Given the description of an element on the screen output the (x, y) to click on. 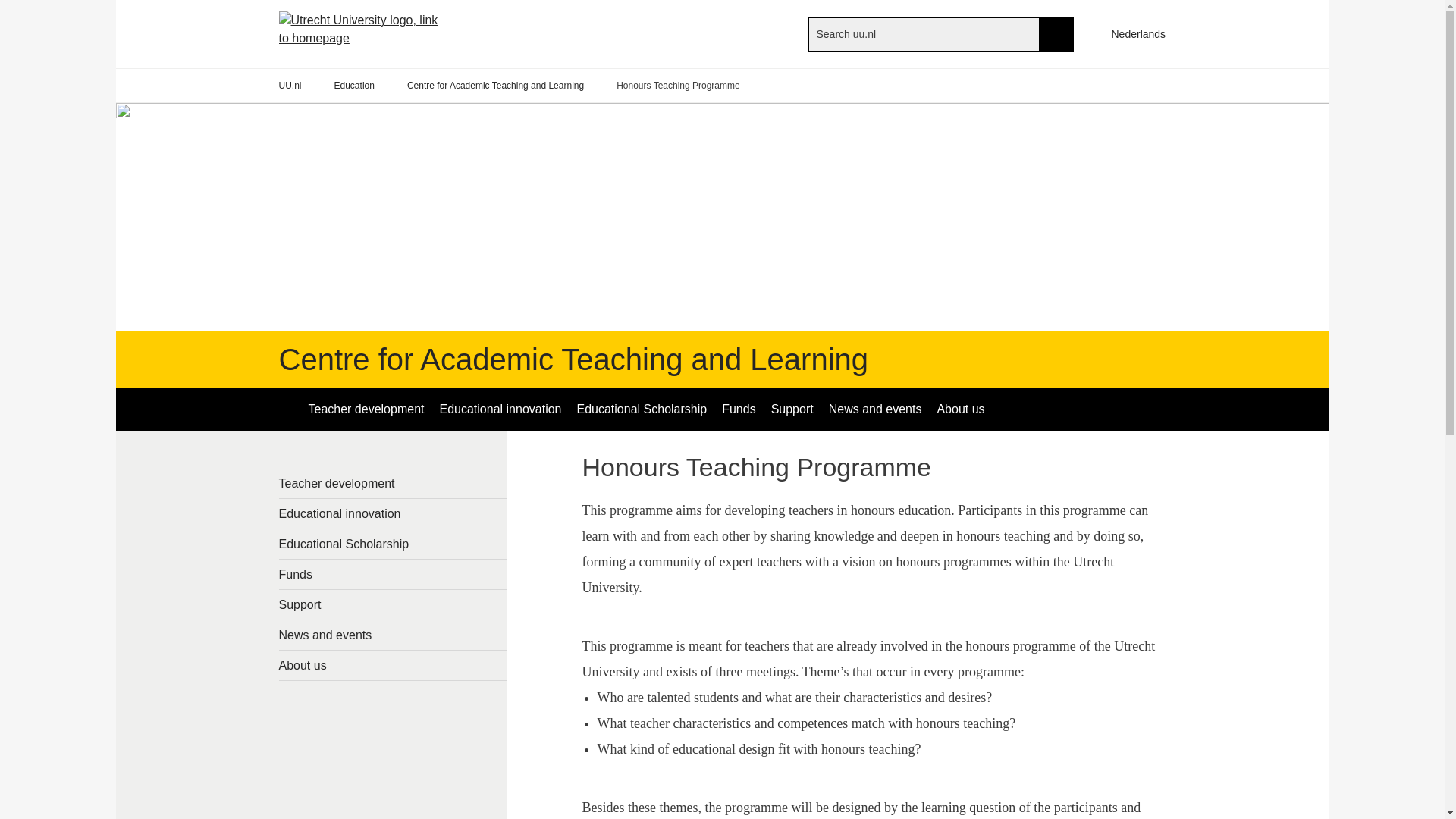
Teacher development (364, 409)
Centre for Academic Teaching and Learning (574, 359)
Nederlands (1131, 33)
Home (370, 33)
Centre for Academic Teaching and Learning (495, 85)
Education (354, 85)
Educational innovation (499, 409)
UU.nl (290, 85)
Skip to main content (7, 7)
